Given the description of an element on the screen output the (x, y) to click on. 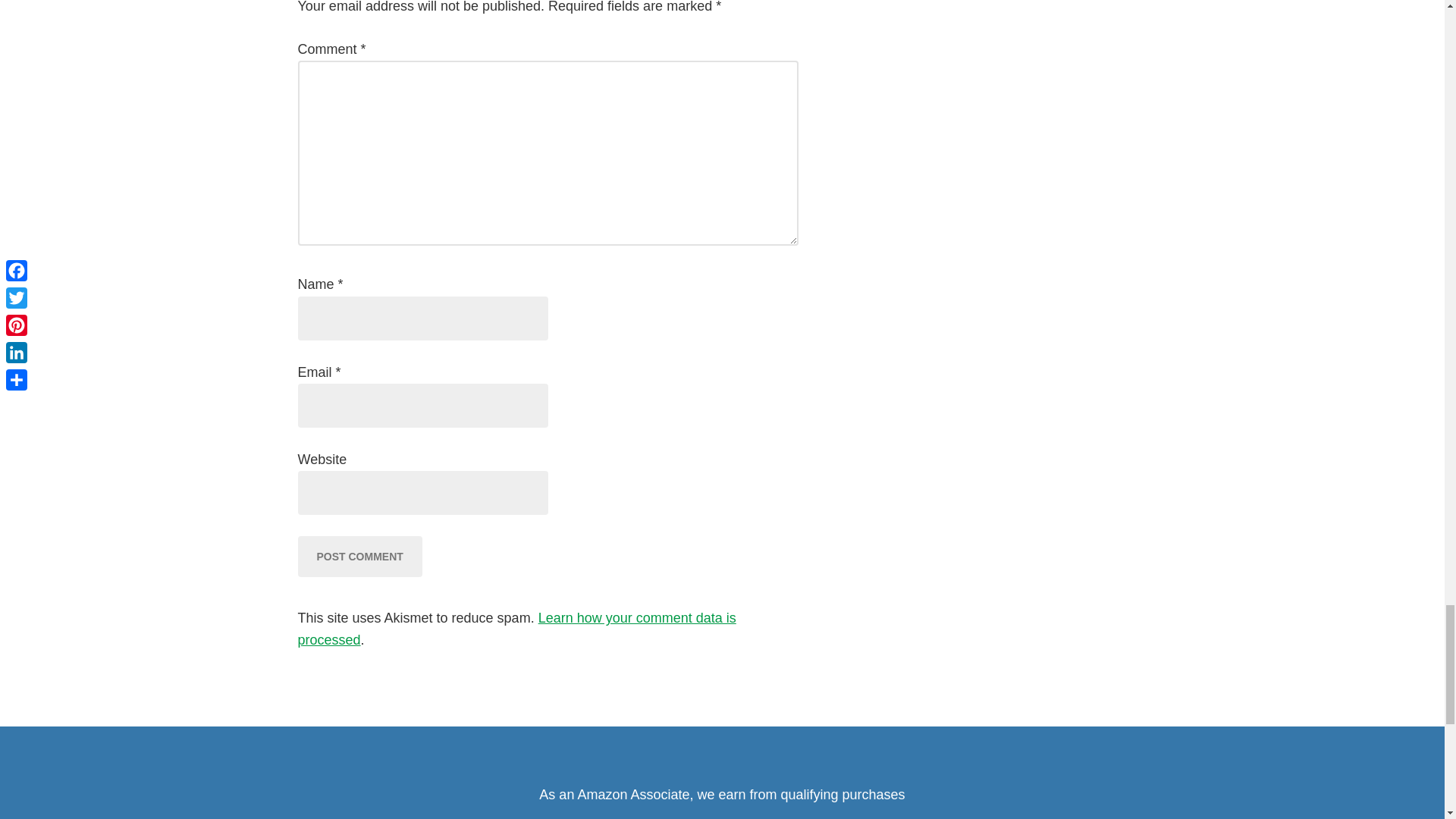
Post Comment (359, 556)
